Given the description of an element on the screen output the (x, y) to click on. 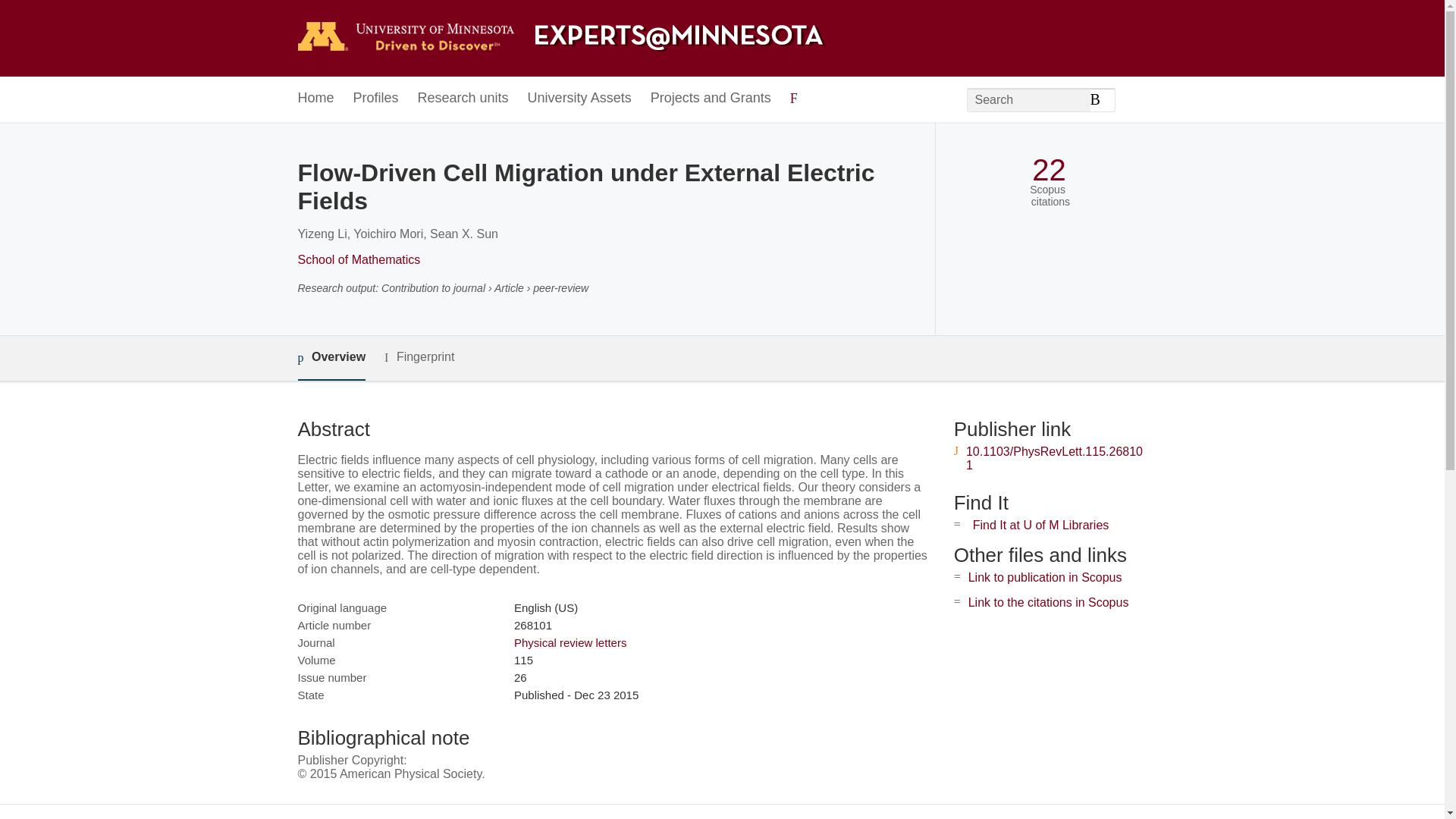
22 (1048, 170)
Fingerprint (419, 357)
Find It at U of M Libraries (1040, 524)
Profiles (375, 98)
School of Mathematics (358, 259)
Projects and Grants (710, 98)
Link to publication in Scopus (1045, 576)
Overview (331, 357)
University Assets (579, 98)
